Given the description of an element on the screen output the (x, y) to click on. 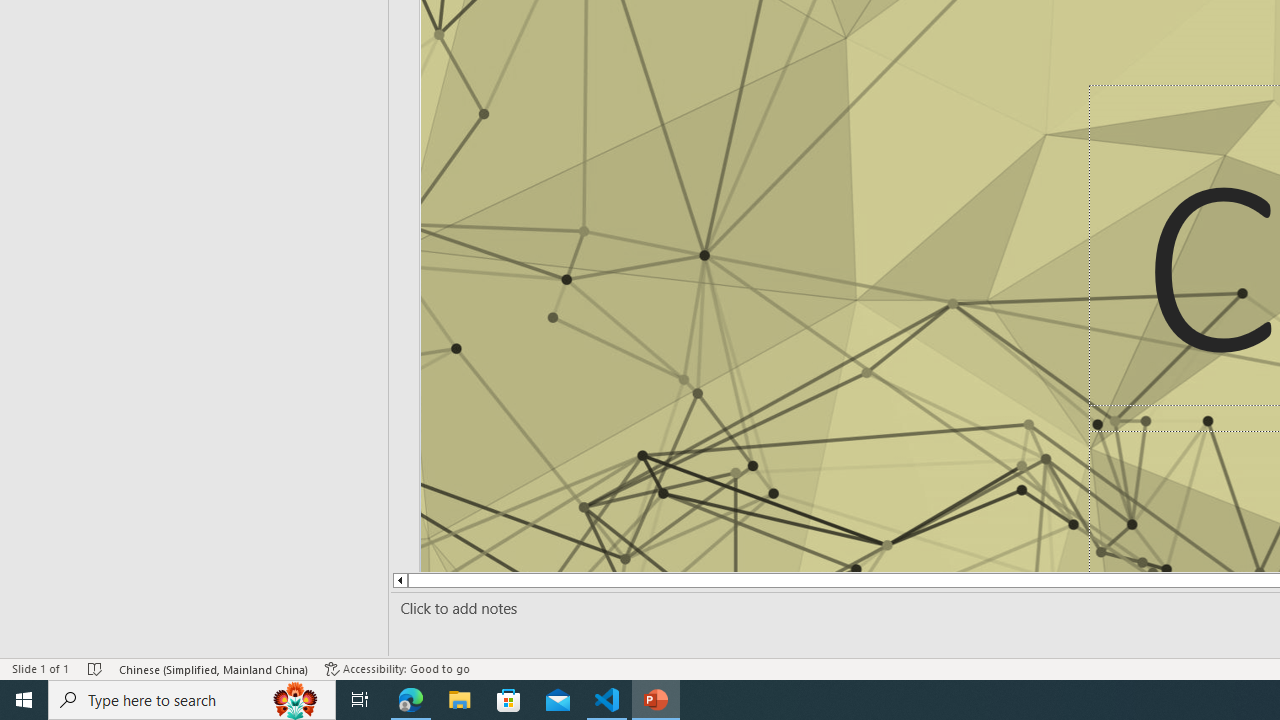
Accessibility Checker Accessibility: Good to go (397, 668)
